Given the description of an element on the screen output the (x, y) to click on. 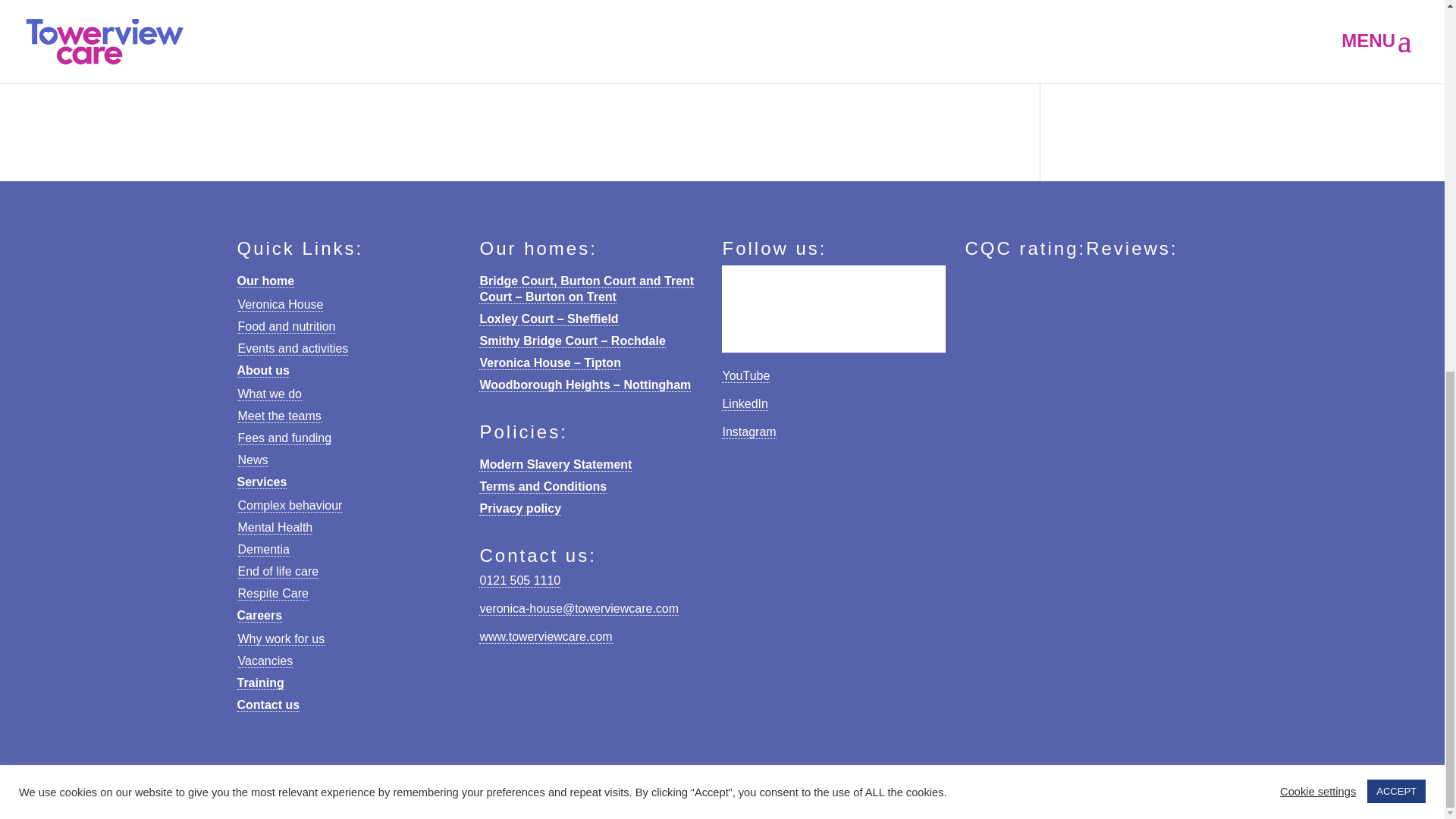
Veronica House (280, 305)
Events and activities (293, 348)
Meet the teams (279, 416)
News (363, 49)
Hints and tips for video calls (344, 20)
TowerviewAdmin (229, 49)
What we do (269, 394)
Our home (264, 281)
Posts by TowerviewAdmin (229, 49)
Food and nutrition (287, 326)
About us (261, 370)
